Given the description of an element on the screen output the (x, y) to click on. 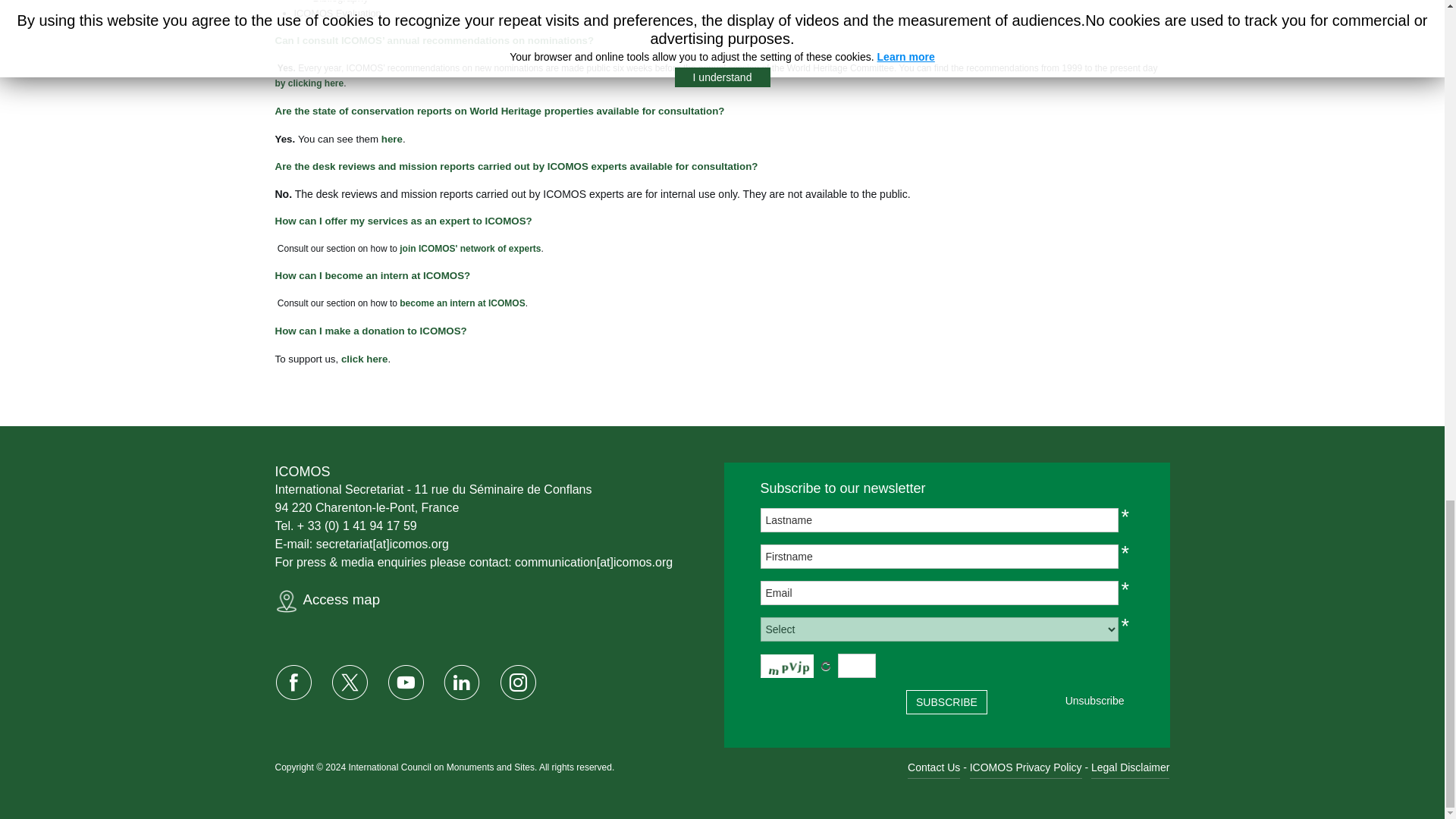
Lastname (939, 519)
Firstname (939, 556)
The captcha is invalid, please try again (786, 666)
Country (939, 629)
The captcha is invalid, please try again (856, 665)
Email (939, 592)
Email (939, 592)
Lastname (939, 519)
Subscribe (946, 702)
Unsubscribe (1095, 700)
